Given the description of an element on the screen output the (x, y) to click on. 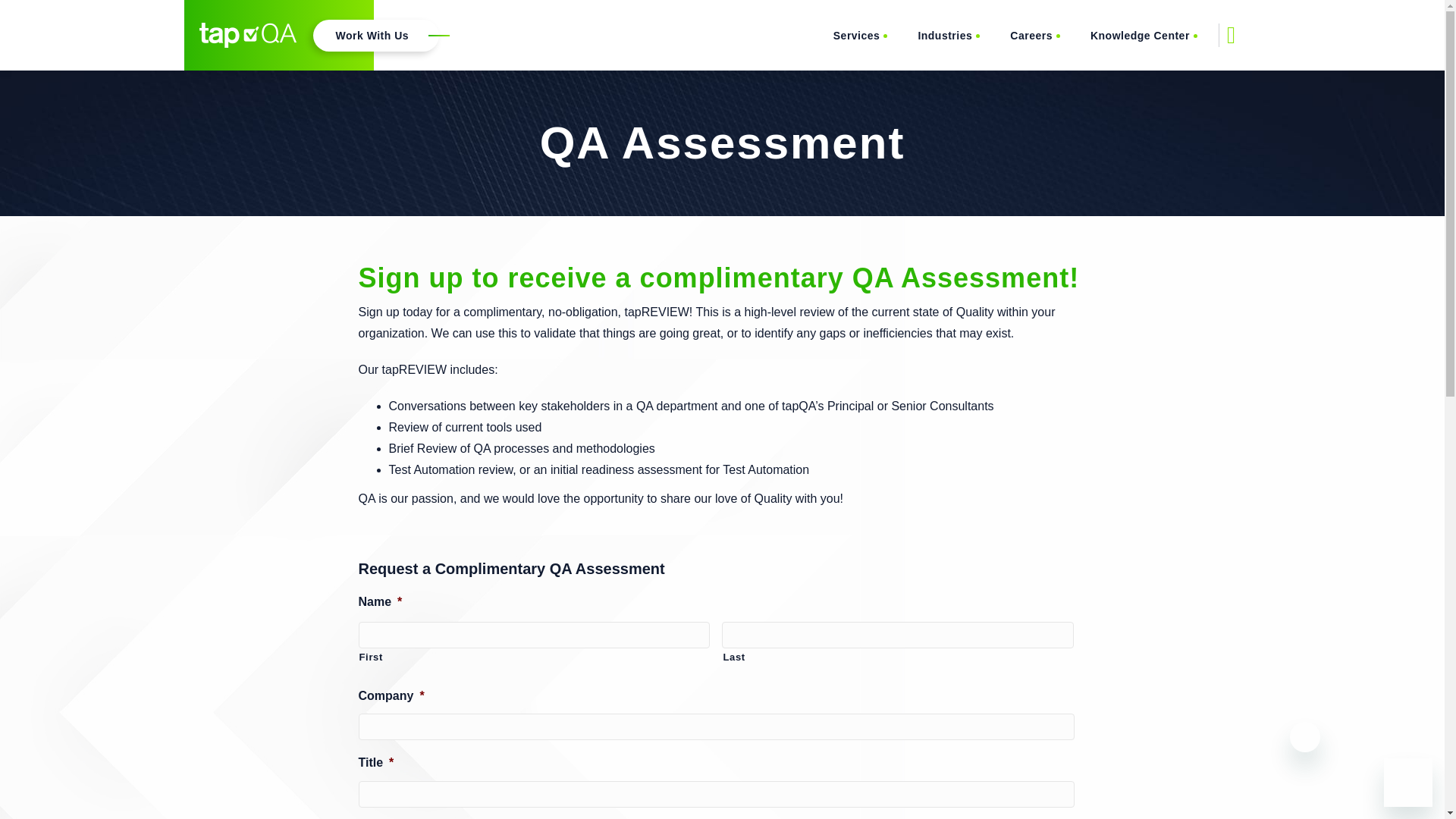
Industries (948, 35)
Services (860, 35)
Tap QA (246, 34)
Careers (1035, 35)
Work With Us (376, 35)
